Given the description of an element on the screen output the (x, y) to click on. 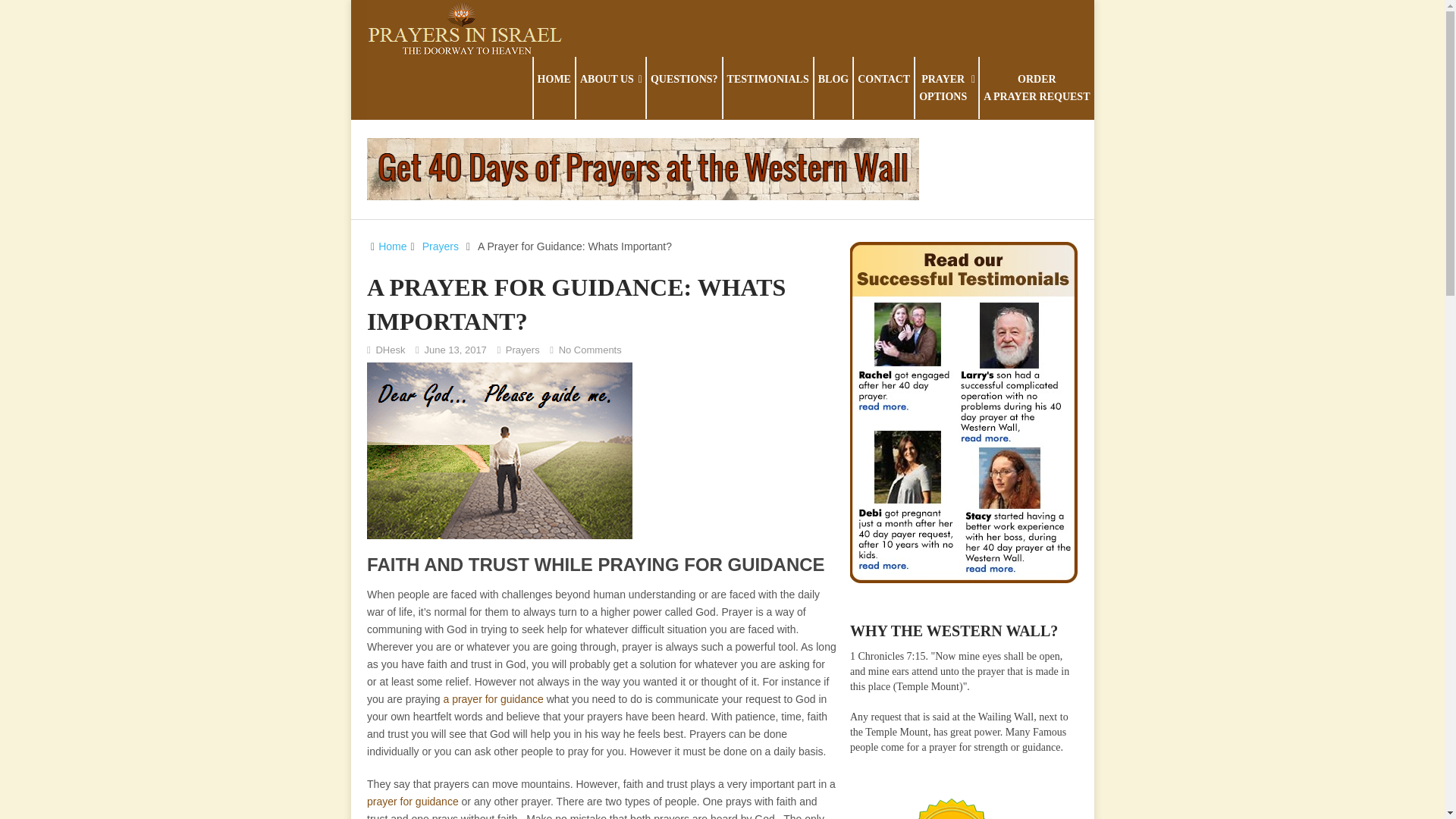
prayer for guidance (412, 801)
DHesk (389, 349)
Posts by DHesk (389, 349)
TESTIMONIALS (946, 87)
CONTACT (767, 87)
No Comments (883, 87)
Prayers (590, 349)
QUESTIONS? (522, 349)
ABOUT US (684, 87)
Home (610, 87)
Prayers (392, 246)
View all posts in Prayers (440, 246)
a prayer for guidance (522, 349)
